Given the description of an element on the screen output the (x, y) to click on. 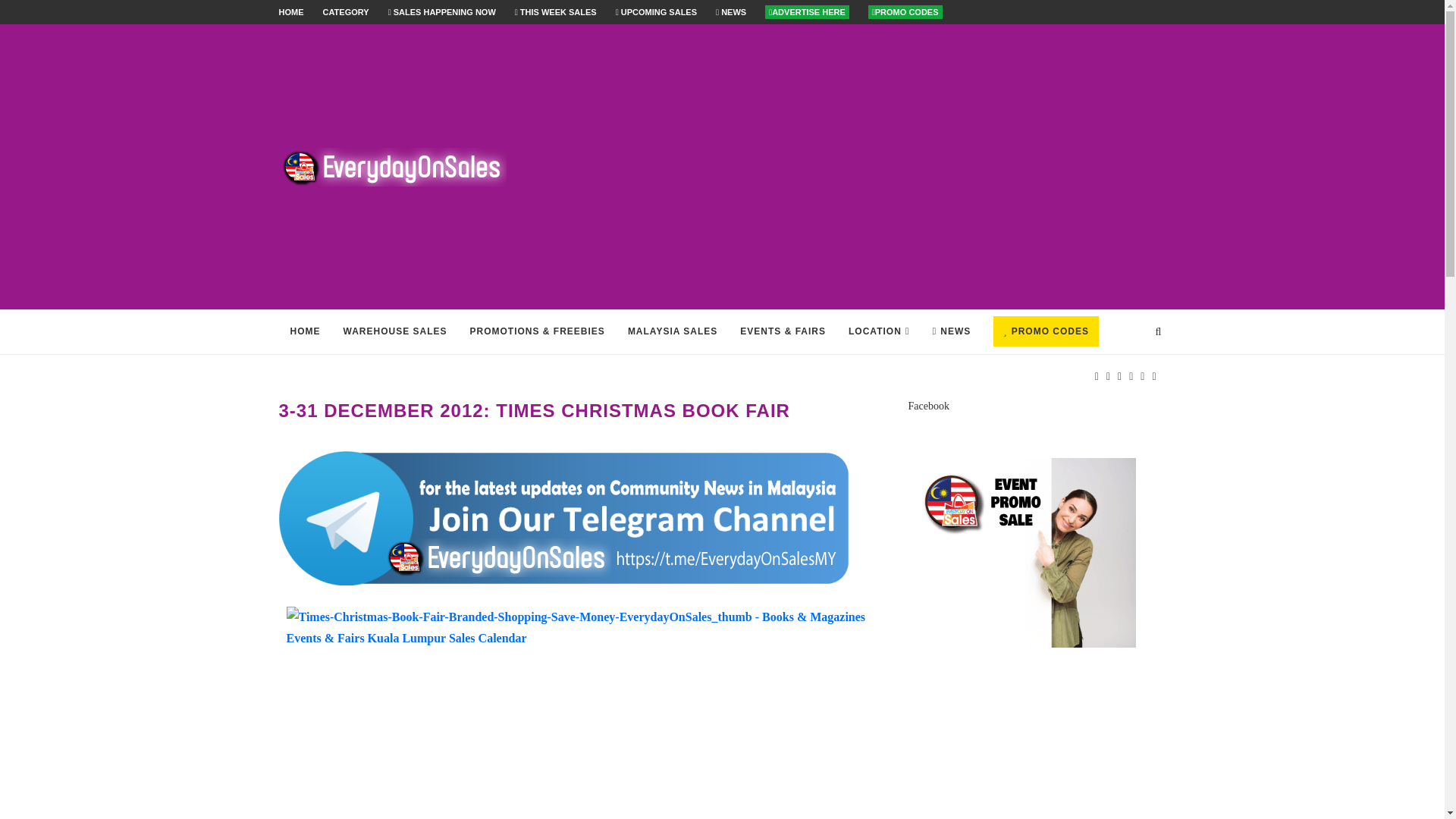
Advertisement (574, 742)
HOME (291, 11)
Advertisement (874, 166)
CATEGORY (346, 11)
